Given the description of an element on the screen output the (x, y) to click on. 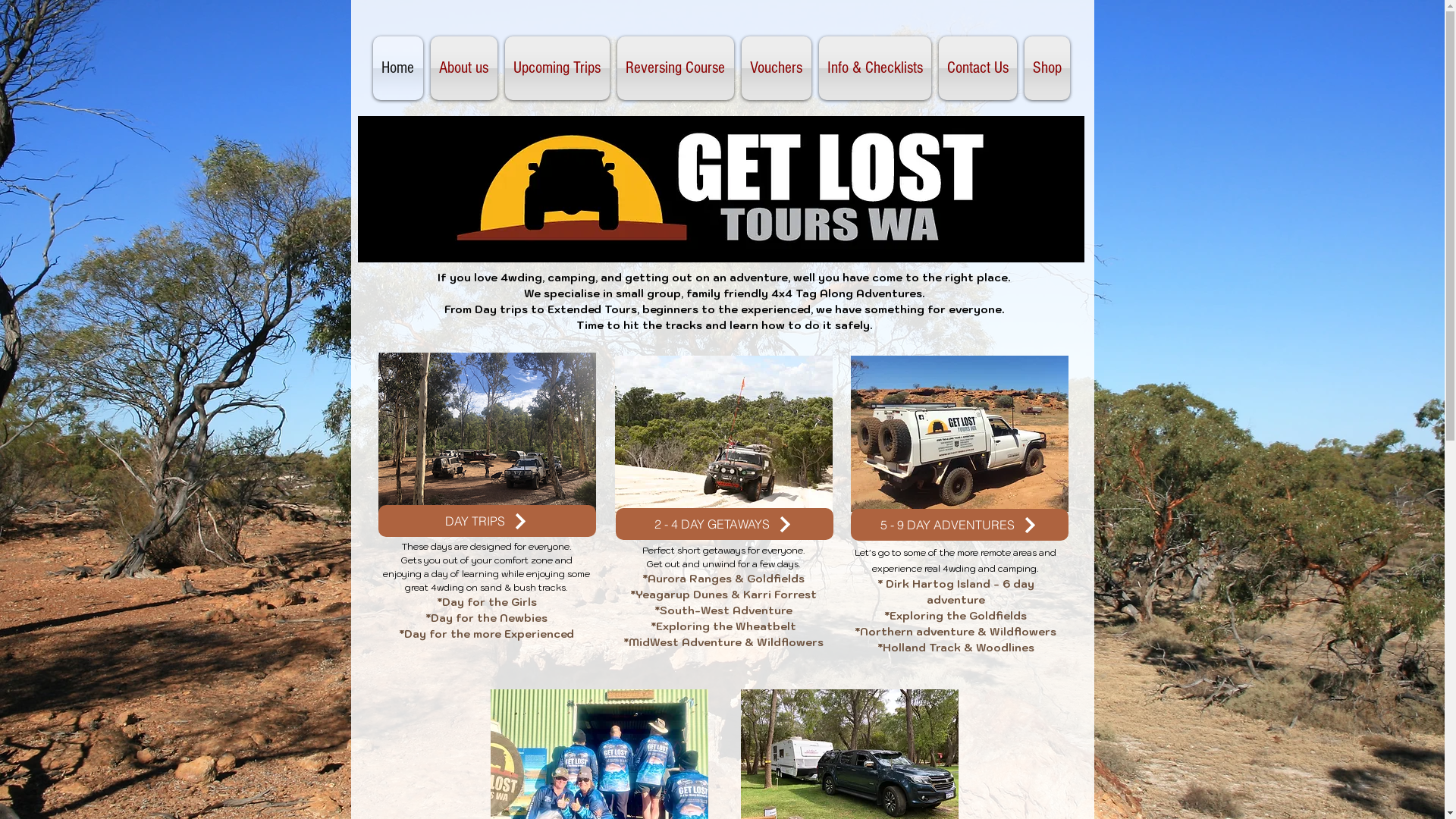
Shop Element type: text (1045, 68)
2 - 4 DAY GETAWAYS Element type: text (724, 523)
About us Element type: text (463, 68)
Reversing Course Element type: text (674, 68)
Home Element type: text (399, 68)
5 - 9 DAY ADVENTURES Element type: text (959, 524)
DAY TRIPS Element type: text (486, 520)
Contact Us Element type: text (976, 68)
Vouchers Element type: text (775, 68)
